Given the description of an element on the screen output the (x, y) to click on. 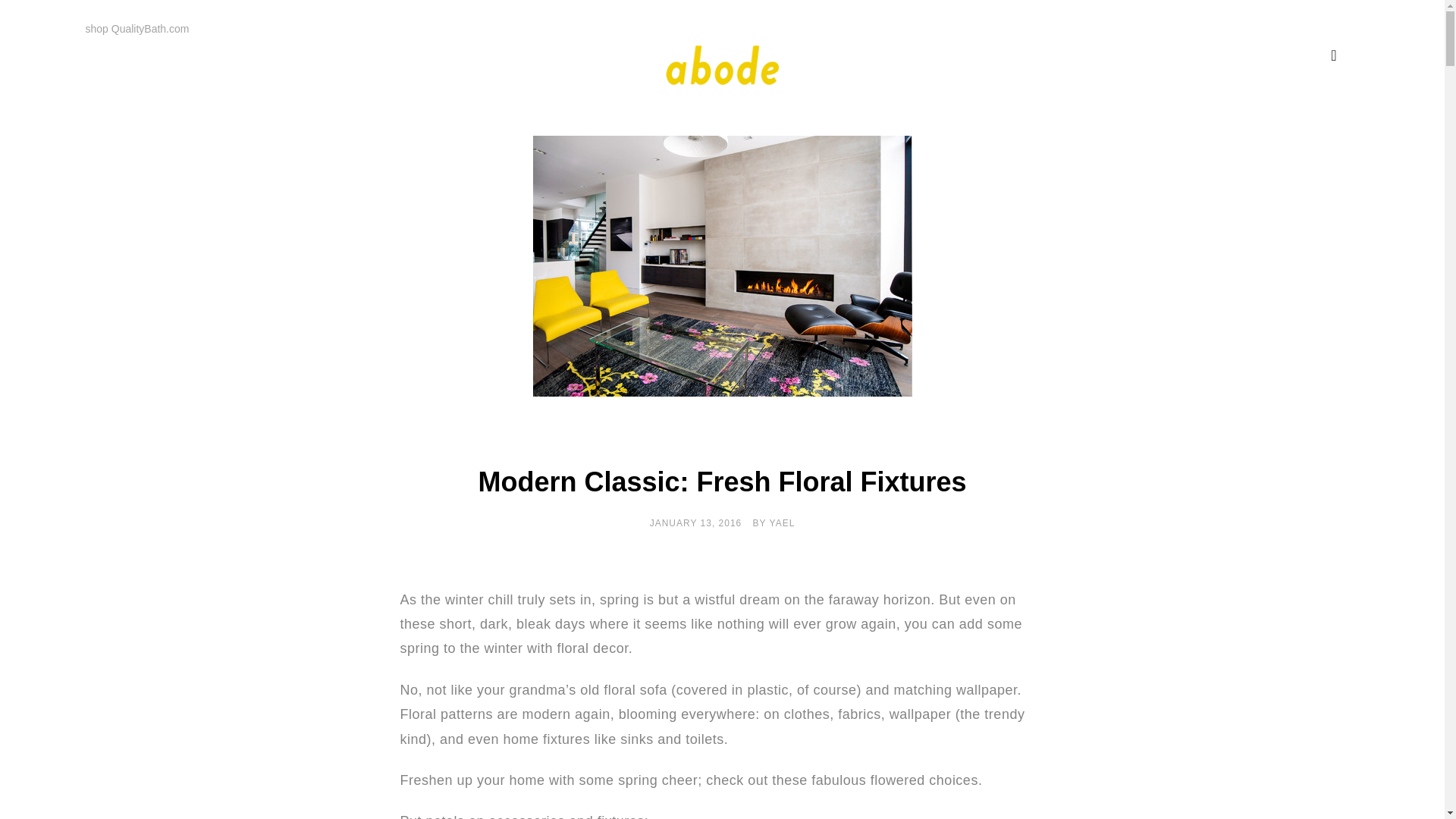
shop QualityBath.com (136, 28)
Link to Quality Bath (136, 28)
Search (43, 20)
YAEL (782, 522)
JANUARY 13, 2016 (695, 522)
